Given the description of an element on the screen output the (x, y) to click on. 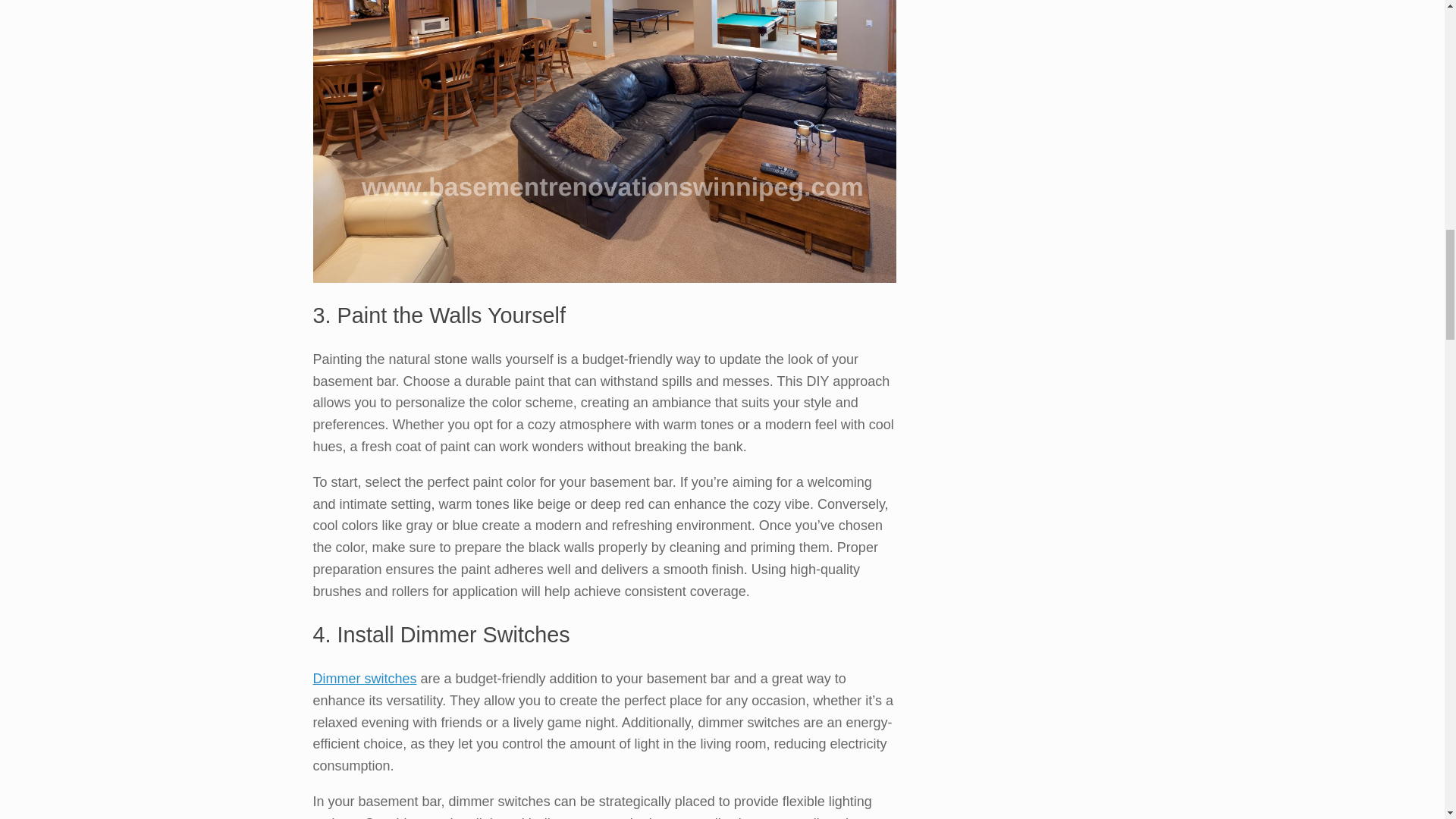
Dimmer switches (364, 678)
